Given the description of an element on the screen output the (x, y) to click on. 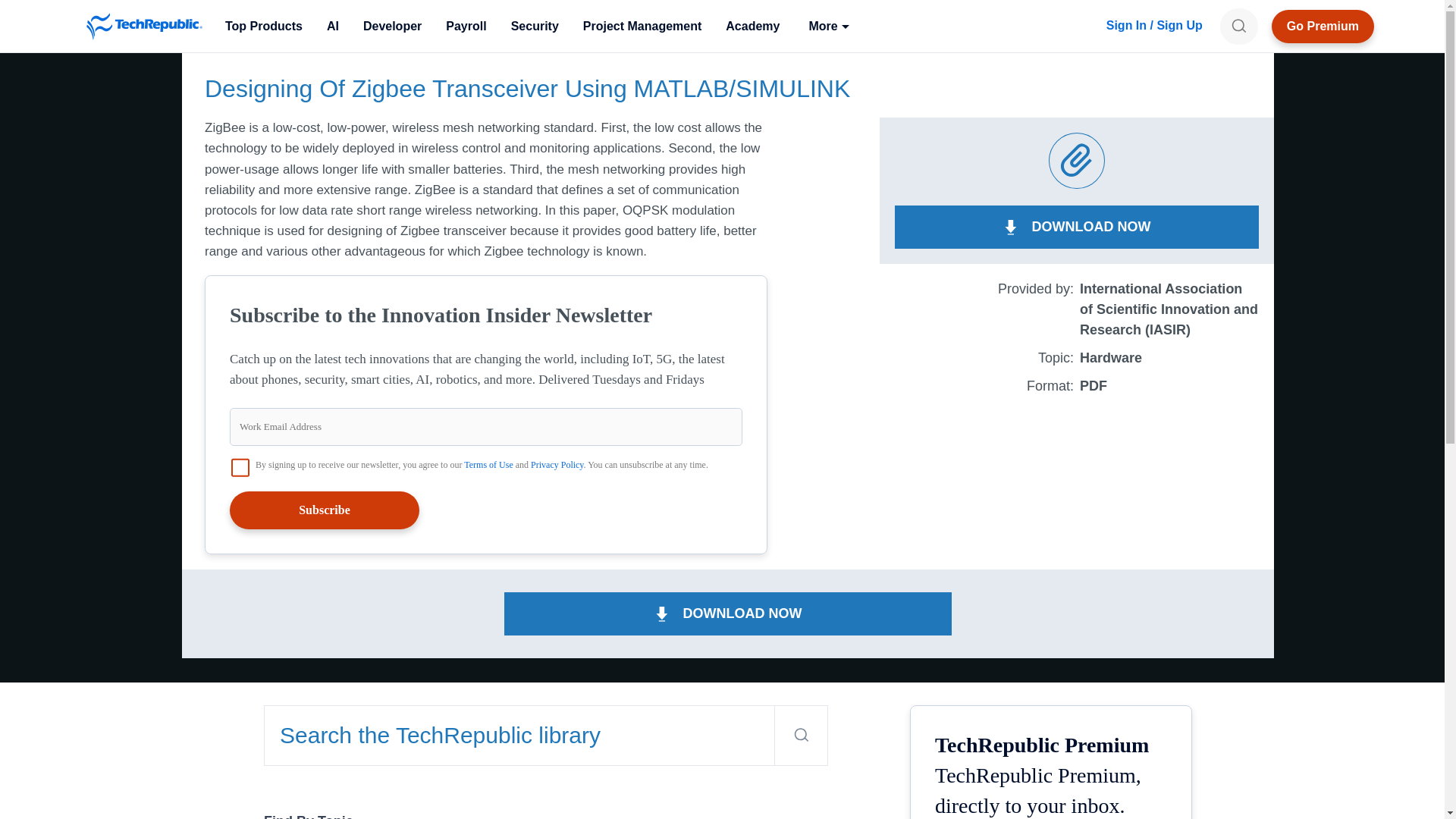
TechRepublic Premium (1322, 25)
Academy (752, 26)
on (239, 467)
TechRepublic (143, 25)
Payroll (465, 26)
Go Premium (1322, 25)
Project Management (641, 26)
Subscribe (324, 510)
TechRepublic (143, 25)
TechRepublic (143, 25)
Top Products (263, 26)
DOWNLOAD NOW (1077, 226)
Privacy Policy (557, 464)
Terms of Use (488, 464)
Security (534, 26)
